Given the description of an element on the screen output the (x, y) to click on. 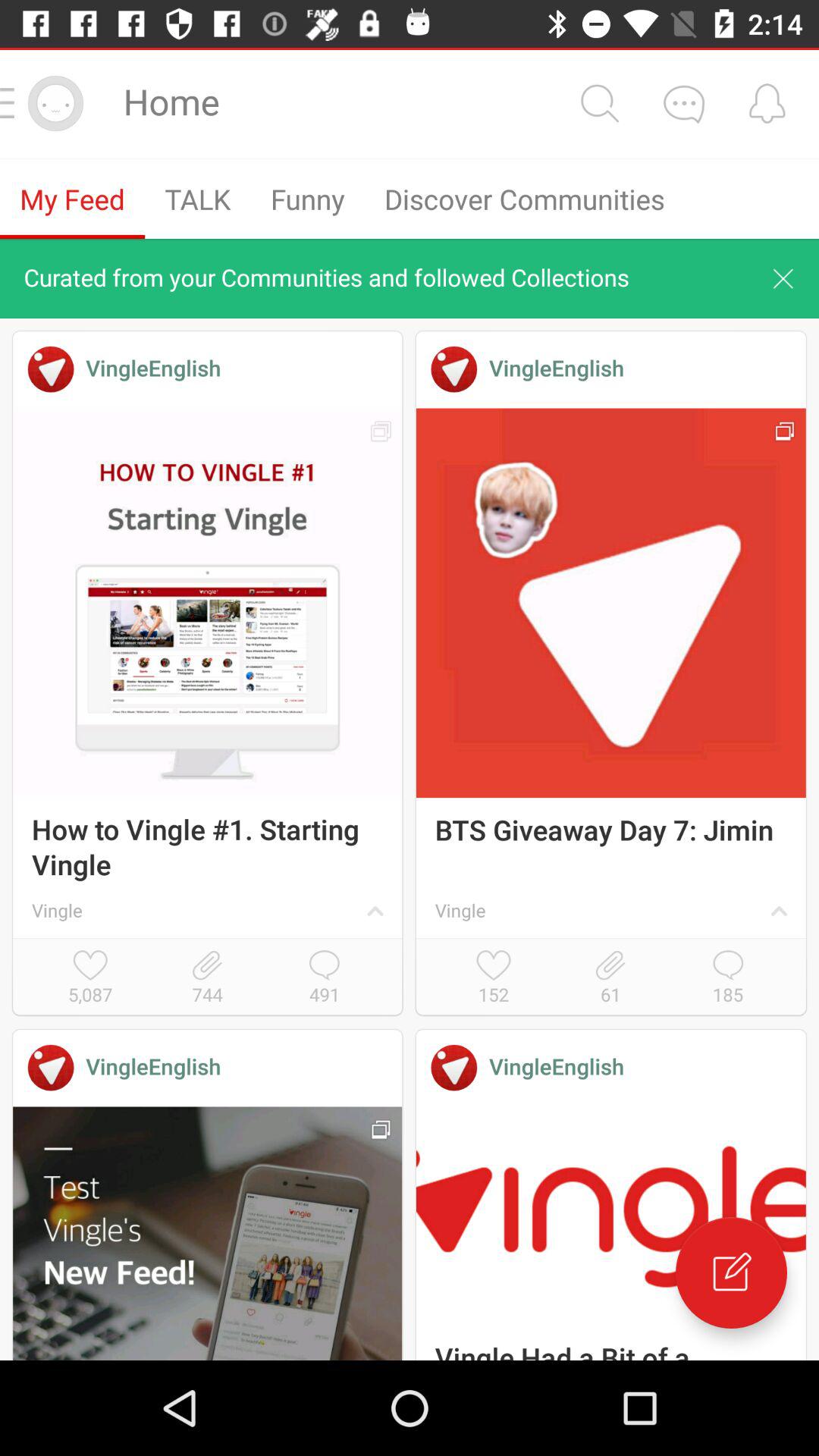
show the notifications (766, 103)
